Given the description of an element on the screen output the (x, y) to click on. 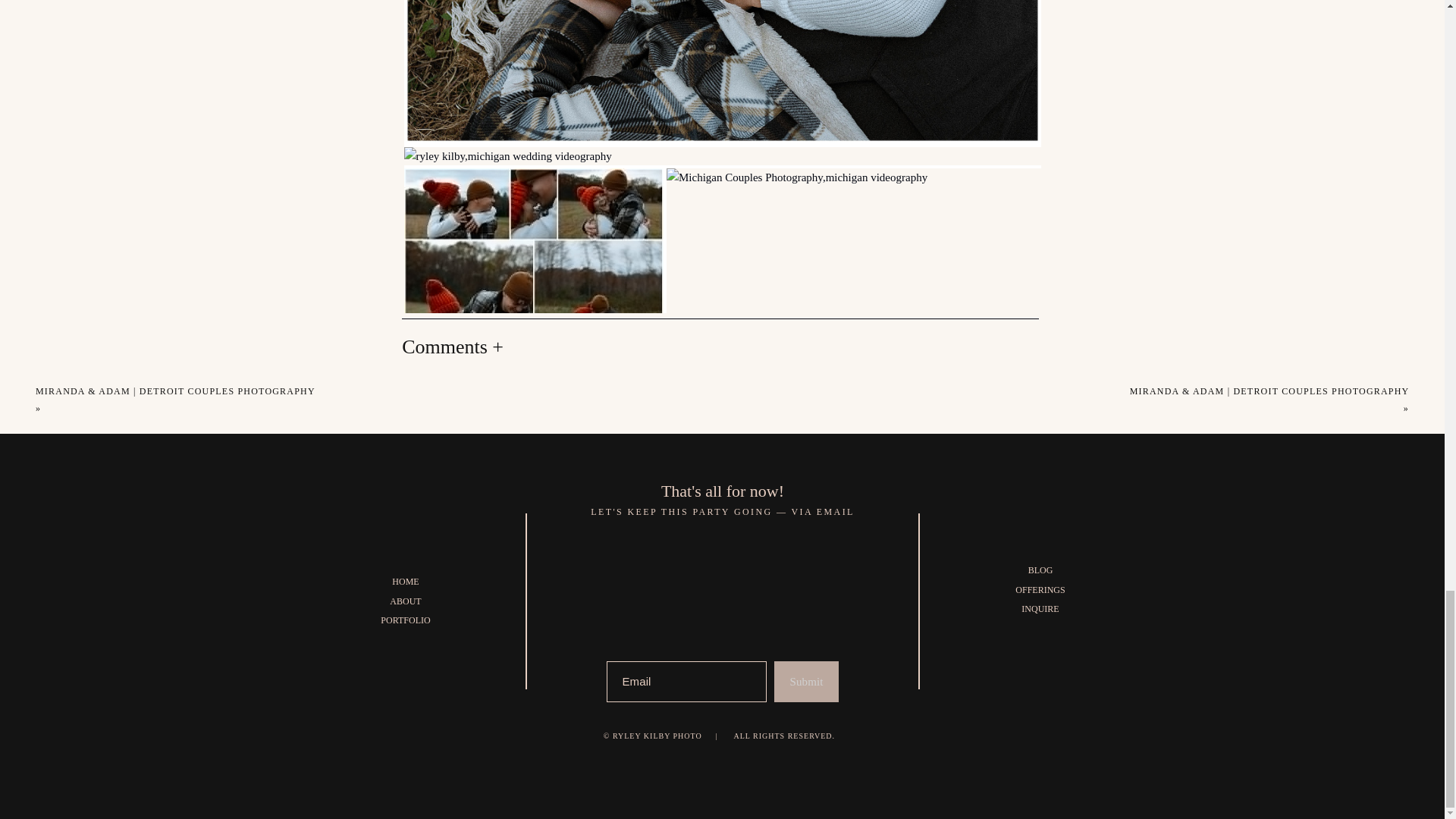
ryley kilby,Michigan couples videographer (722, 574)
Michigan couples videographer,michigan wedding photography (722, 445)
Submit (807, 680)
michigan videography,ryley kilby (722, 531)
PORTFOLIO (405, 620)
michigan wedding videography,michigan videography (722, 72)
Michigan couples videographer (722, 509)
BLOG (1040, 570)
michigan wedding photography,Michigan Couples Photography (574, 488)
Michigan Couples Photography,michigan wedding videography (895, 488)
